Given the description of an element on the screen output the (x, y) to click on. 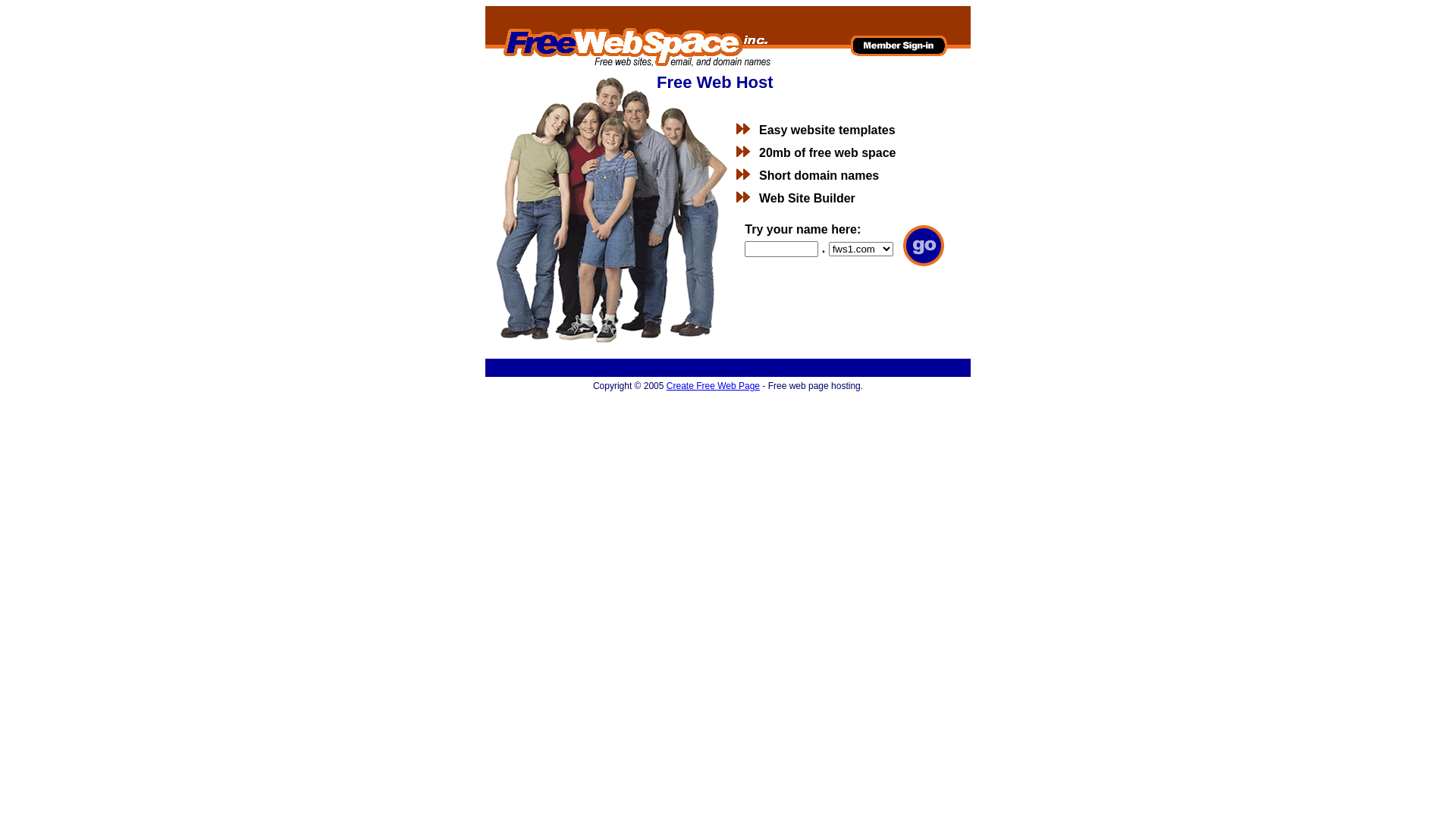
Create Free Web Page Element type: text (712, 385)
